Given the description of an element on the screen output the (x, y) to click on. 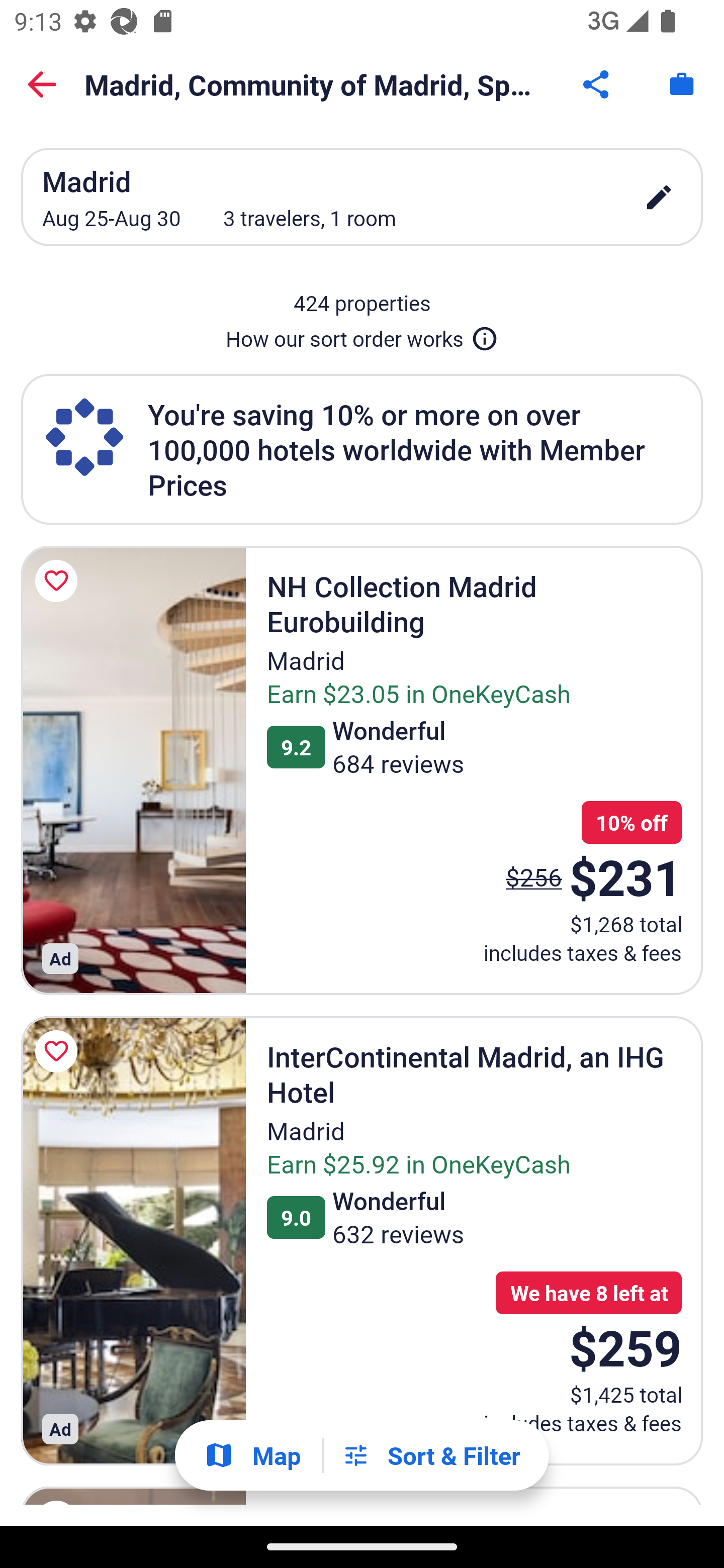
Back (42, 84)
Share Button (597, 84)
Trips. Button (681, 84)
Madrid Aug 25-Aug 30 3 travelers, 1 room edit (361, 196)
How our sort order works (361, 334)
Save NH Collection Madrid Eurobuilding to a trip (59, 580)
NH Collection Madrid Eurobuilding (133, 770)
$256 The price was $256 (533, 876)
InterContinental Madrid, an IHG Hotel (133, 1241)
Filters Sort & Filter Filters Button (430, 1455)
Show map Map Show map Button (252, 1455)
